Given the description of an element on the screen output the (x, y) to click on. 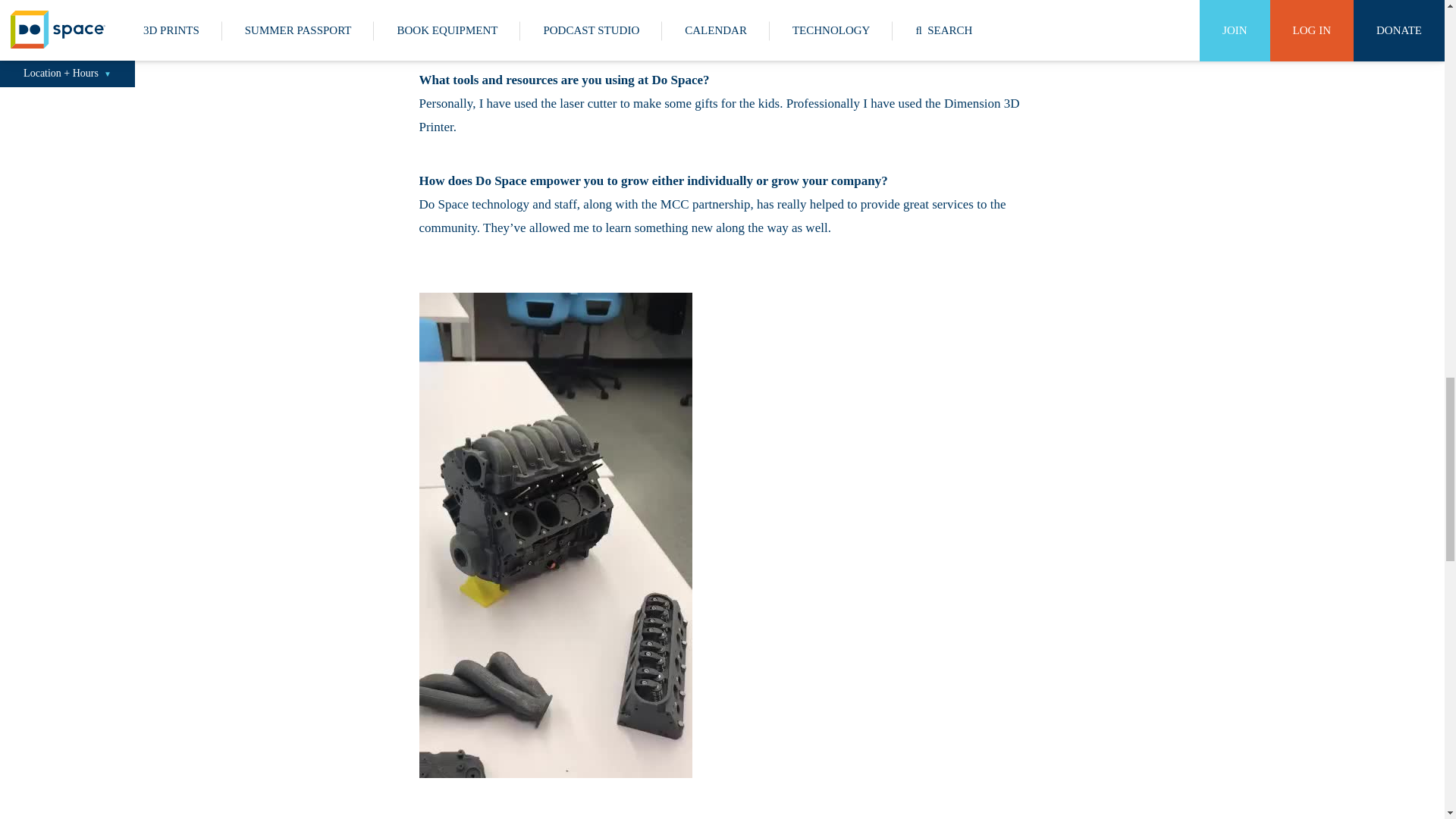
7SKZgi4Uxqt-WcyH (555, 534)
